Given the description of an element on the screen output the (x, y) to click on. 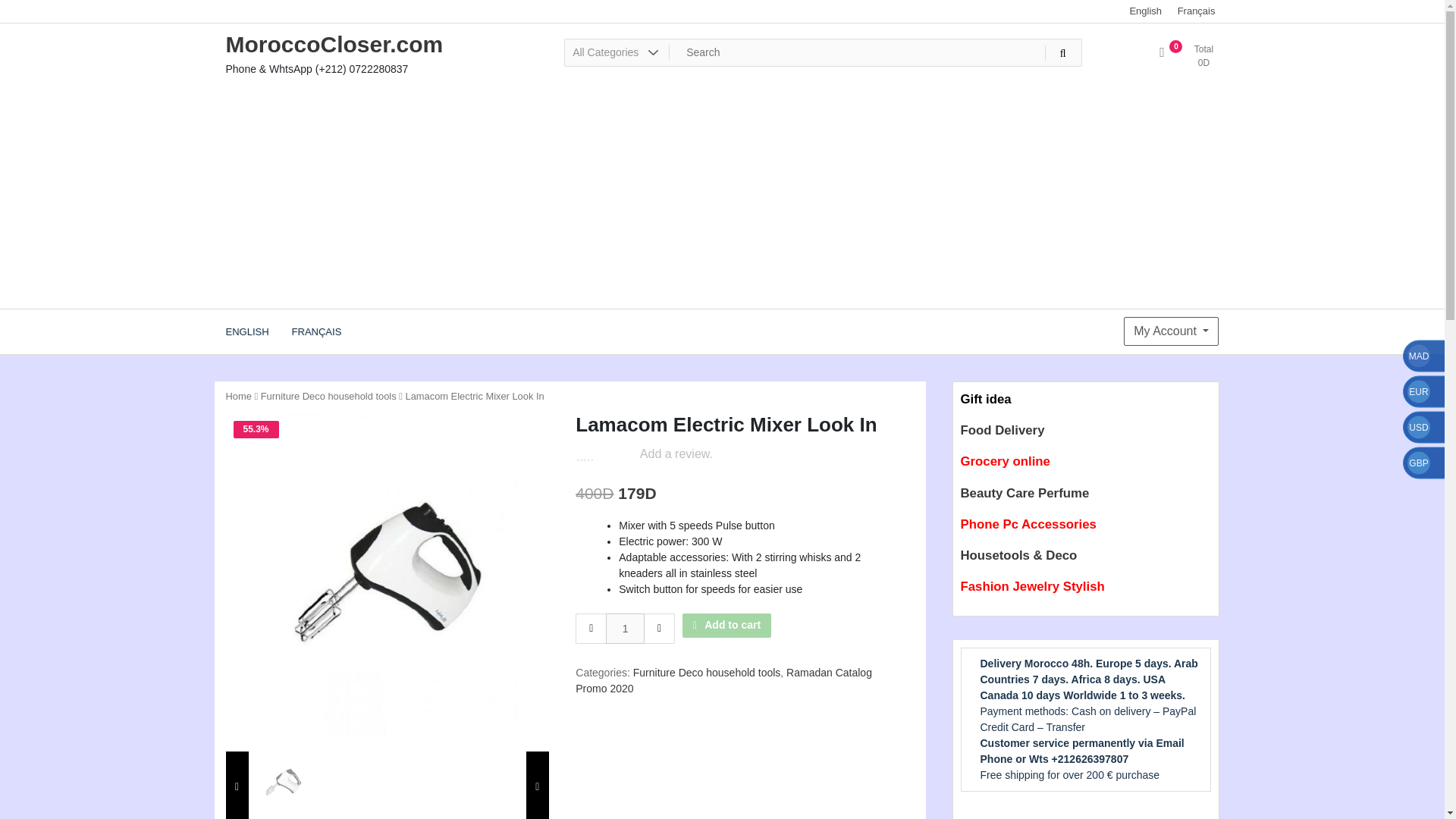
1 (625, 628)
Furniture Deco household tools (328, 396)
My Account (1171, 330)
ENGLISH (246, 331)
Ramadan Catalog Promo 2020 (723, 680)
1 (386, 574)
Qty (625, 628)
black (984, 399)
Add to cart (726, 625)
